Given the description of an element on the screen output the (x, y) to click on. 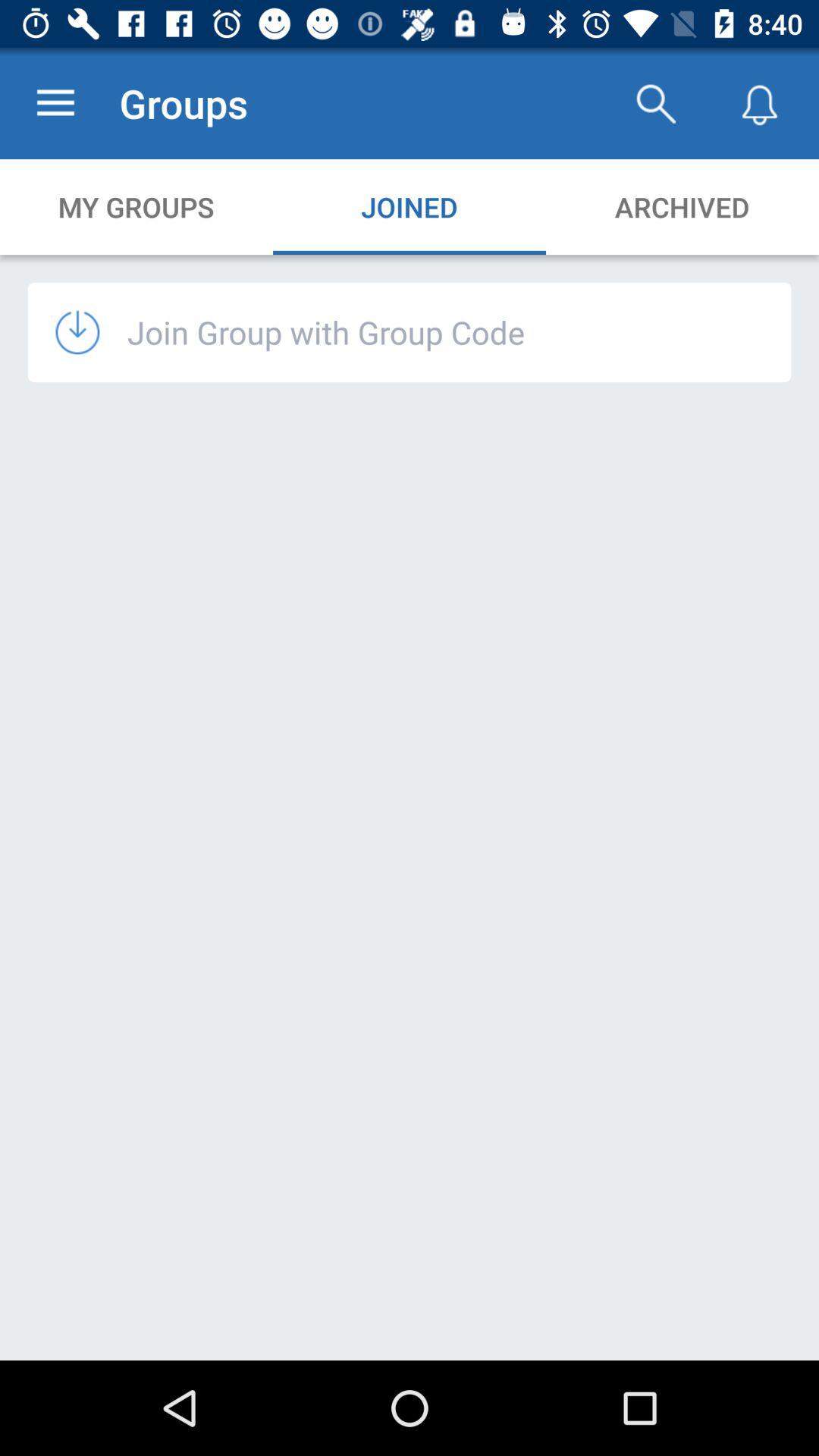
turn on icon next to join group with icon (91, 332)
